Given the description of an element on the screen output the (x, y) to click on. 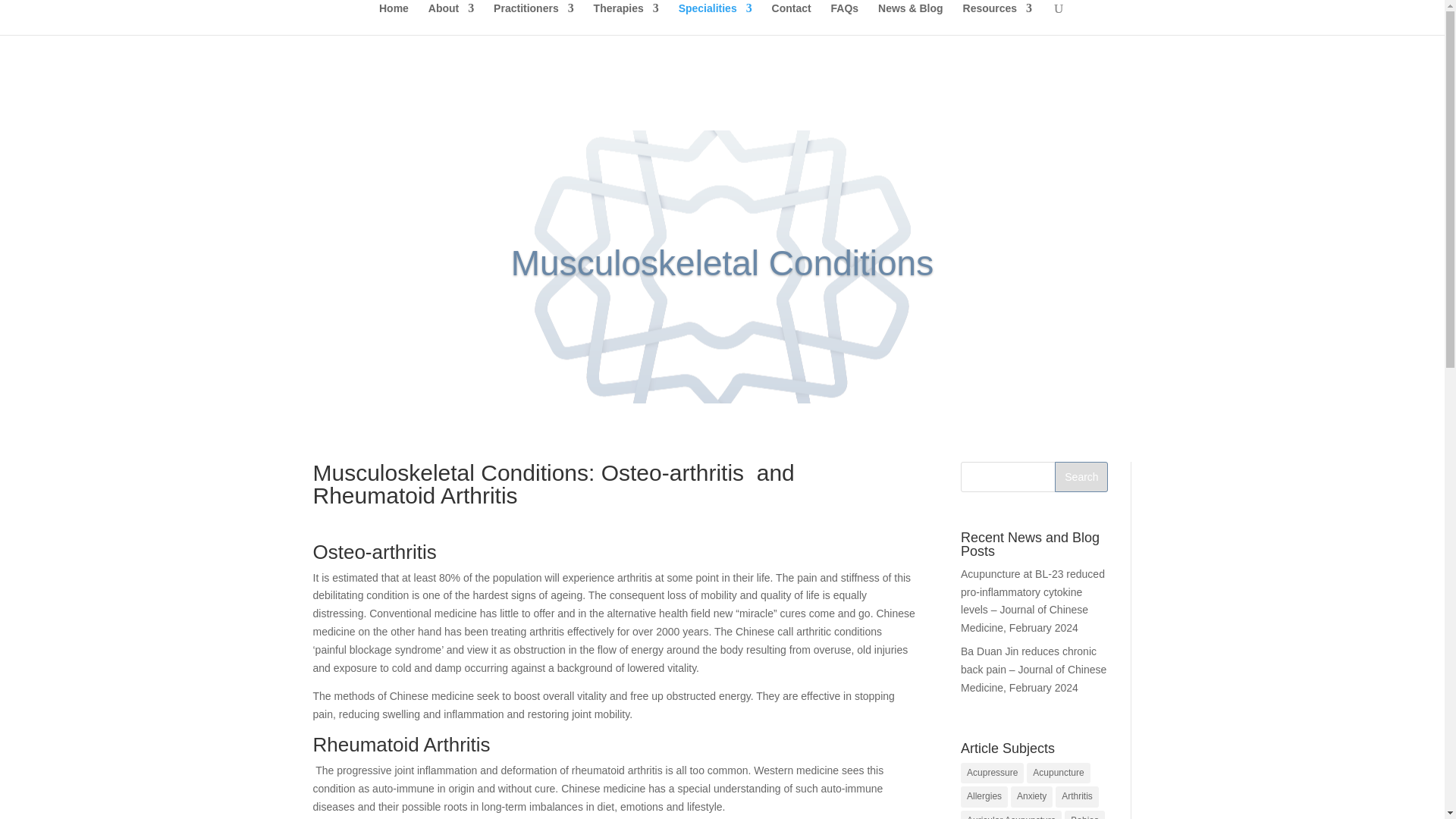
Resources (997, 19)
Home (393, 19)
Contact (790, 19)
About (451, 19)
Therapies (626, 19)
Search (1081, 476)
Specialities (715, 19)
Practitioners (533, 19)
